Given the description of an element on the screen output the (x, y) to click on. 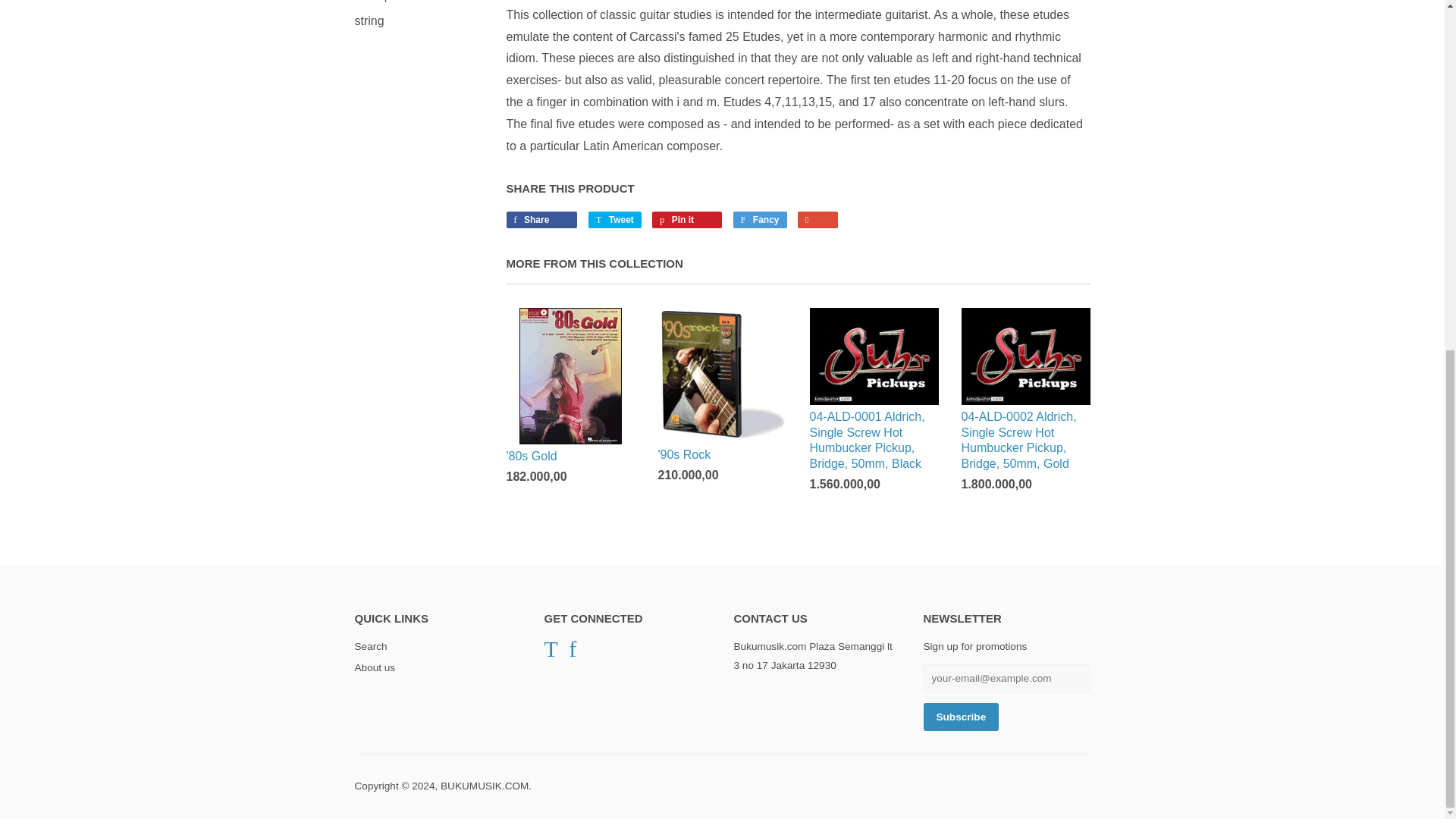
Add to Fancy (760, 219)
Tweet on Twitter (615, 219)
Subscribe (960, 716)
Share on Facebook (542, 219)
Pin on Pinterest (687, 219)
BUKUMUSIK.COM on Twitter (550, 648)
